Given the description of an element on the screen output the (x, y) to click on. 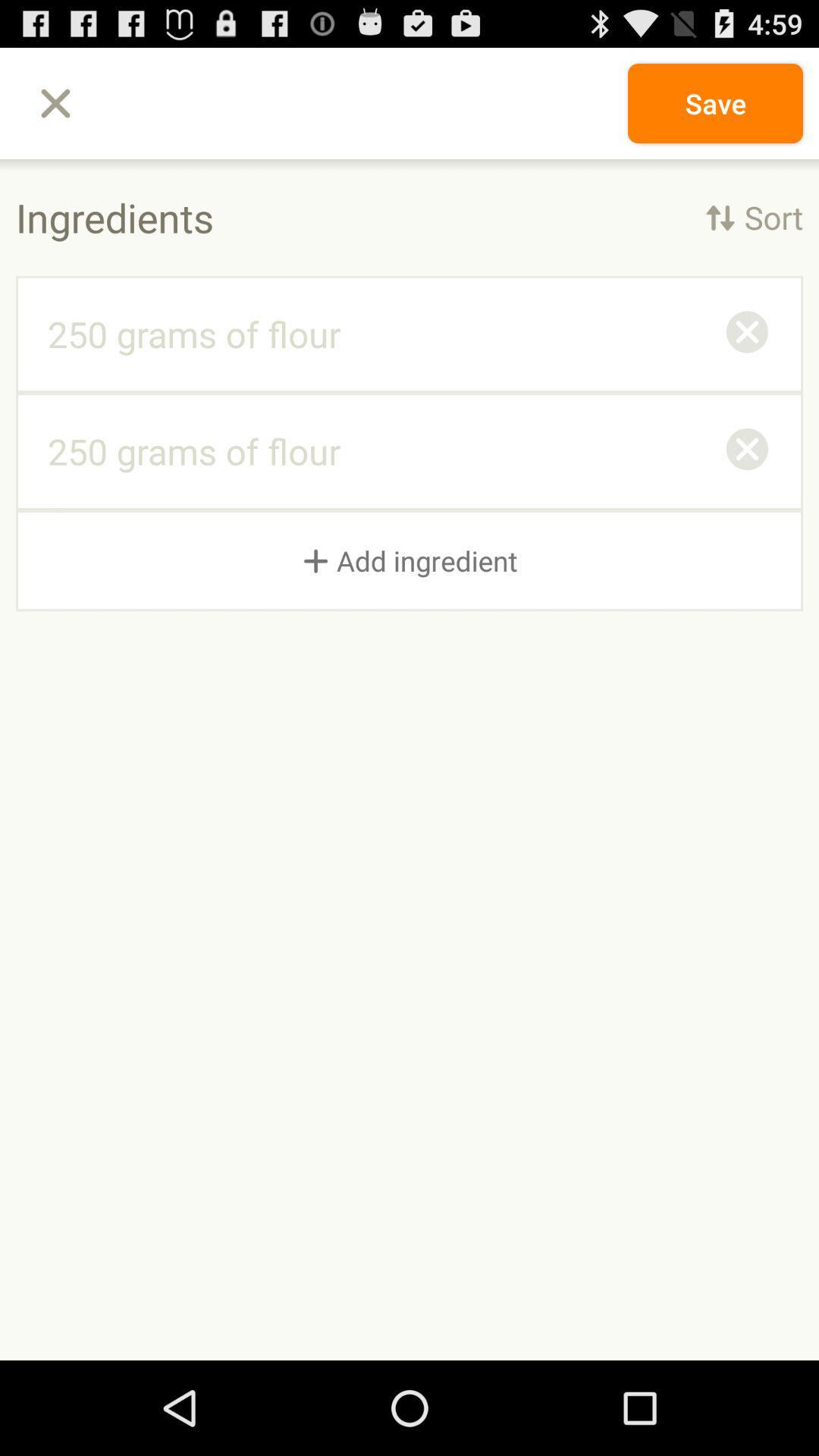
press the item next to the save item (55, 103)
